Given the description of an element on the screen output the (x, y) to click on. 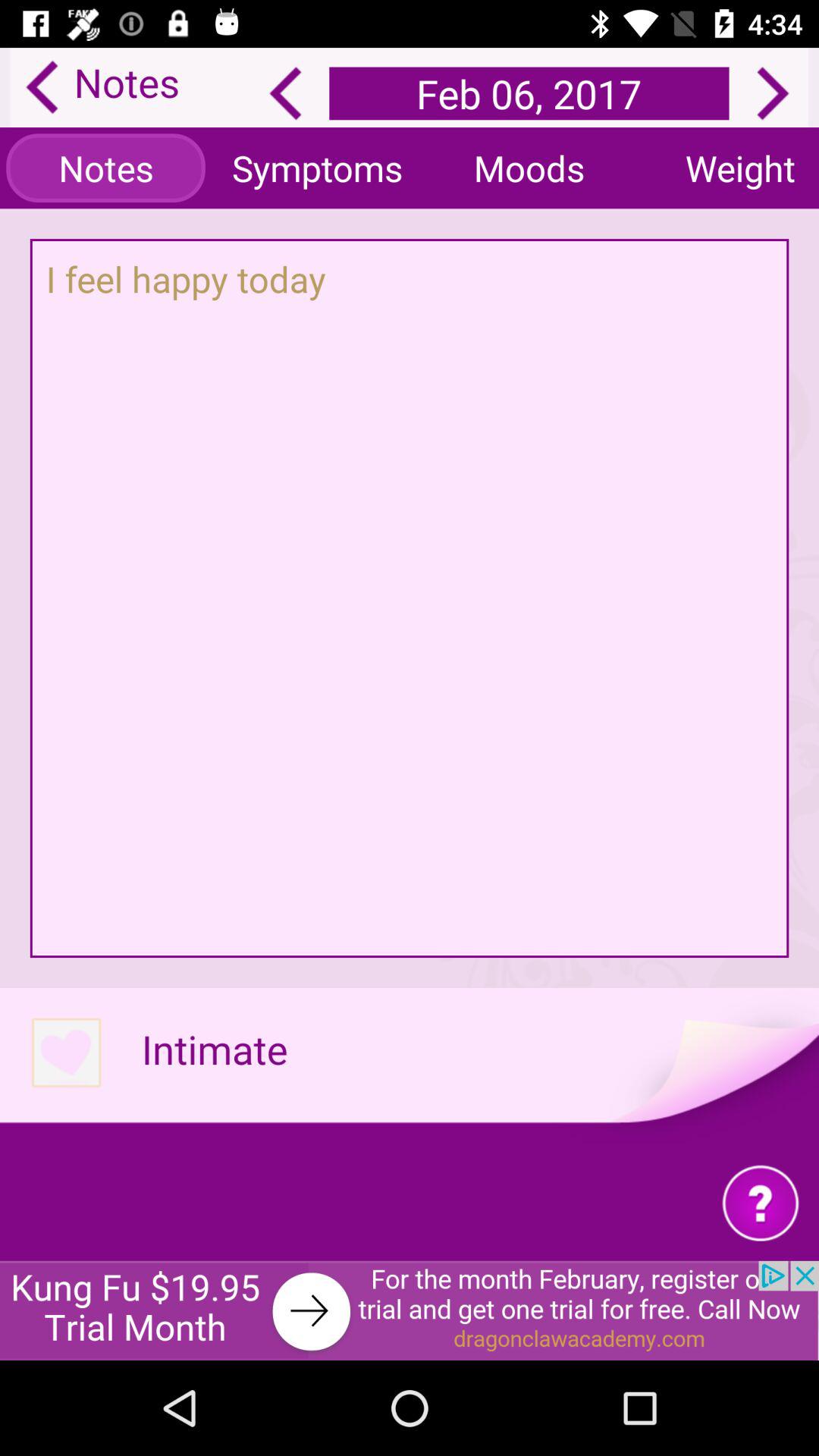
like (65, 1053)
